Given the description of an element on the screen output the (x, y) to click on. 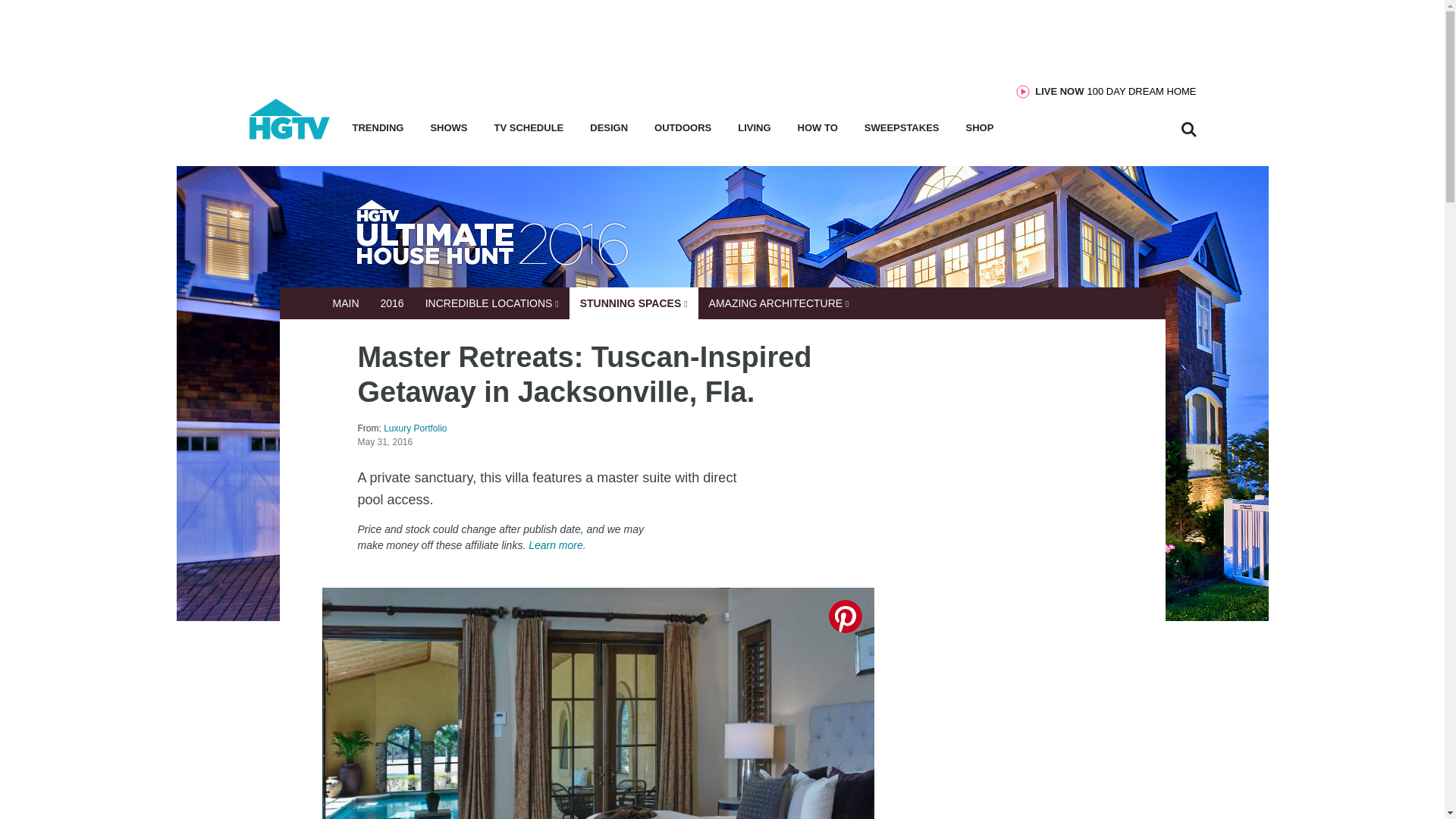
Master Bedroom With Pool Access (597, 703)
TV SCHEDULE (529, 132)
SHOWS (448, 132)
TRENDING (377, 132)
home (289, 135)
